Given the description of an element on the screen output the (x, y) to click on. 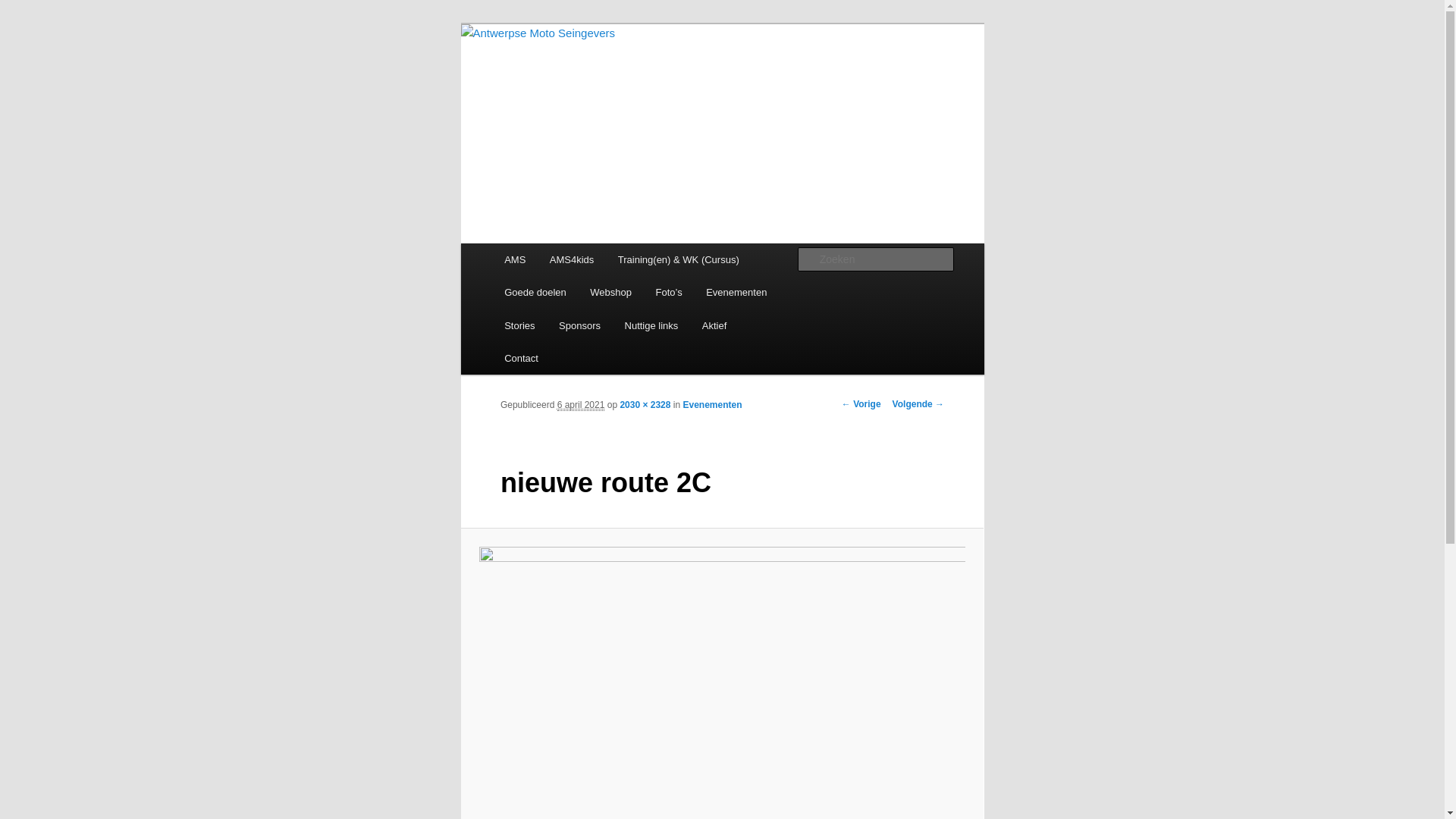
Zoeken Element type: text (25, 8)
Webshop Element type: text (610, 292)
Aktief Element type: text (714, 325)
Evenementen Element type: text (711, 404)
Antwerpse Moto Seingevers Element type: text (588, 92)
AMS4kids Element type: text (571, 259)
Contact Element type: text (520, 358)
Goede doelen Element type: text (534, 292)
Spring naar de primaire inhoud Element type: text (22, 22)
Stories Element type: text (519, 325)
Evenementen Element type: text (735, 292)
Training(en) & WK (Cursus) Element type: text (677, 259)
AMS Element type: text (514, 259)
Nuttige links Element type: text (651, 325)
Sponsors Element type: text (578, 325)
